Given the description of an element on the screen output the (x, y) to click on. 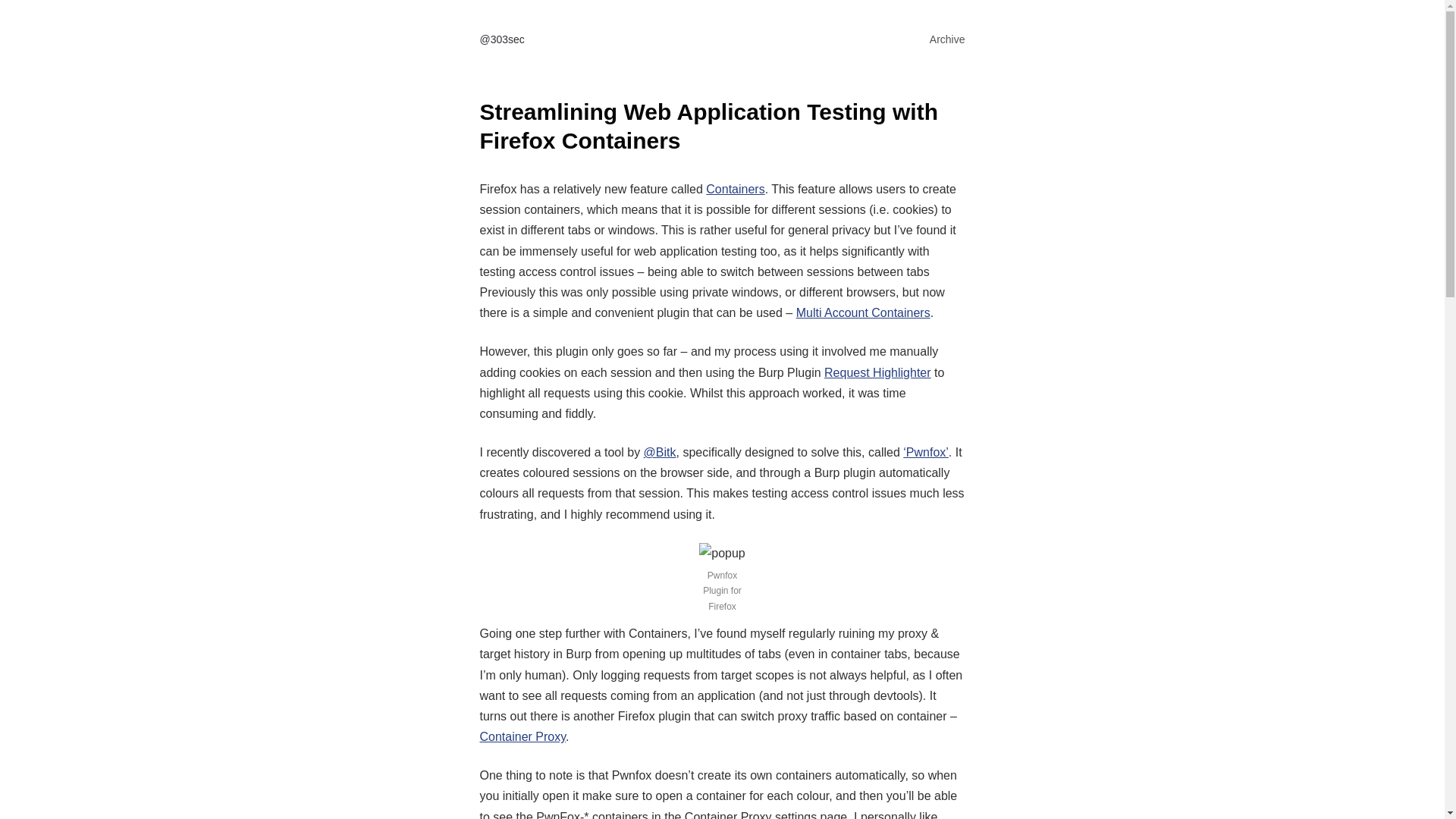
Archive Element type: text (935, 38)
Multi Account Containers Element type: text (863, 312)
Streamlining Web Application Testing with Firefox Containers Element type: text (708, 126)
@303sec Element type: text (501, 39)
@Bitk Element type: text (659, 451)
Containers Element type: text (735, 188)
Container Proxy Element type: text (522, 736)
Request Highlighter Element type: text (877, 371)
